Given the description of an element on the screen output the (x, y) to click on. 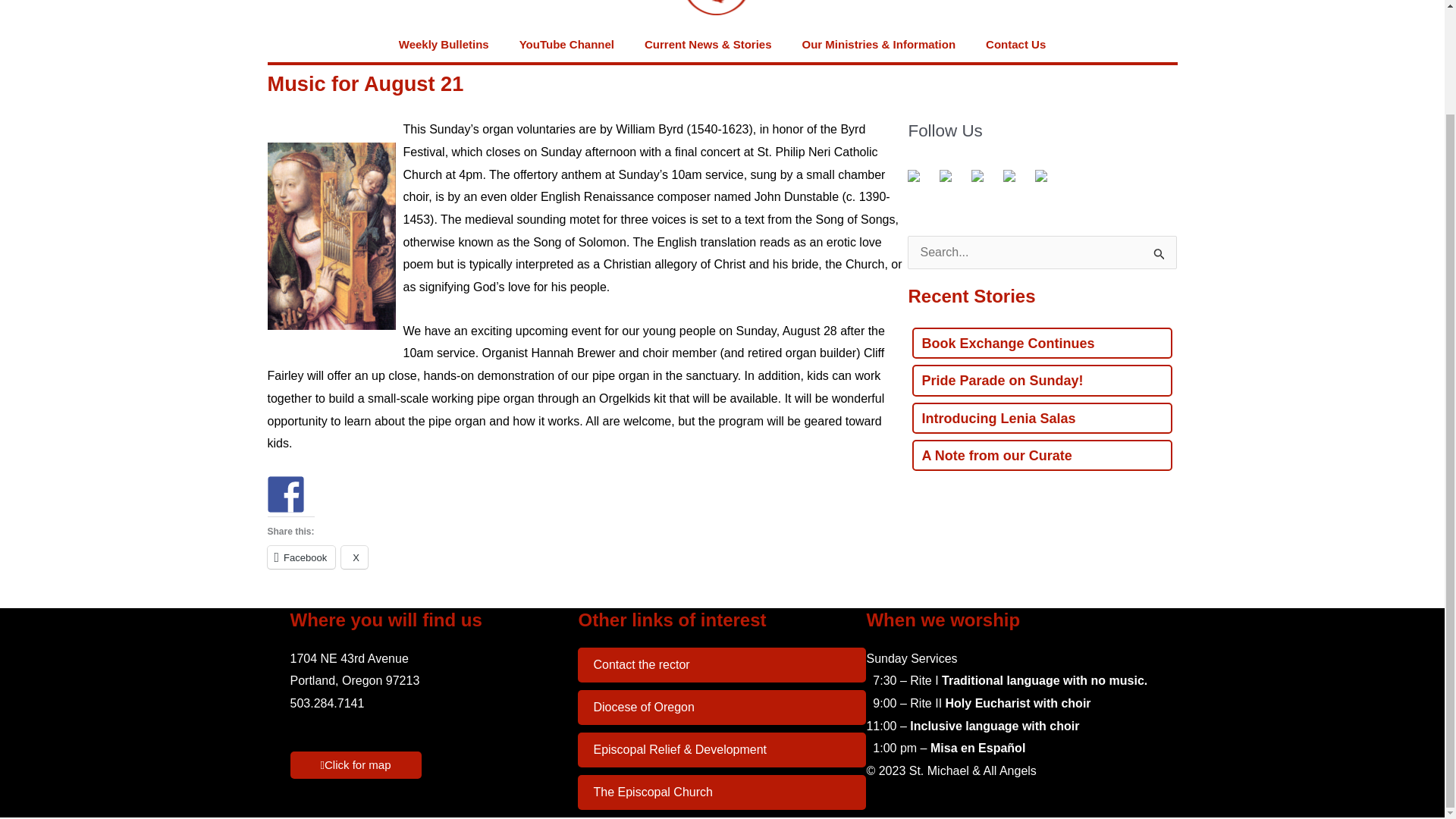
Contact Us (1016, 44)
Follow us on Facebook (919, 181)
YouTube Channel (565, 44)
Share on Facebook (284, 493)
Click to share on Facebook (300, 557)
Subscribe to our RSS feed (945, 175)
Click to share on X (354, 557)
Weekly Bulletins (443, 44)
X (354, 557)
Find us on YouTube (983, 181)
